Given the description of an element on the screen output the (x, y) to click on. 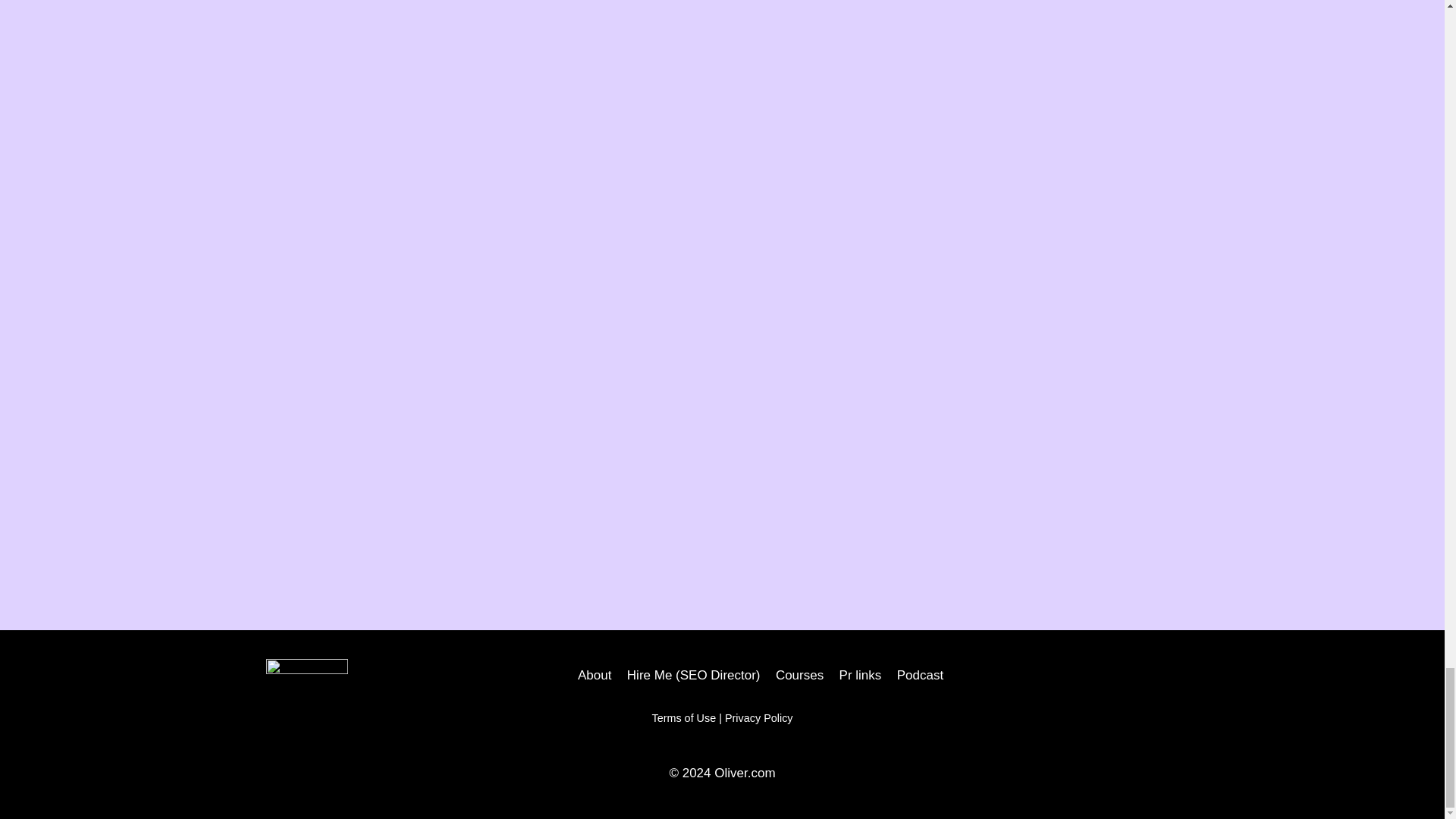
Podcast (919, 674)
Terms of Use (683, 717)
Pr links (859, 674)
About (595, 674)
Courses (799, 674)
Privacy Policy (759, 717)
